Given the description of an element on the screen output the (x, y) to click on. 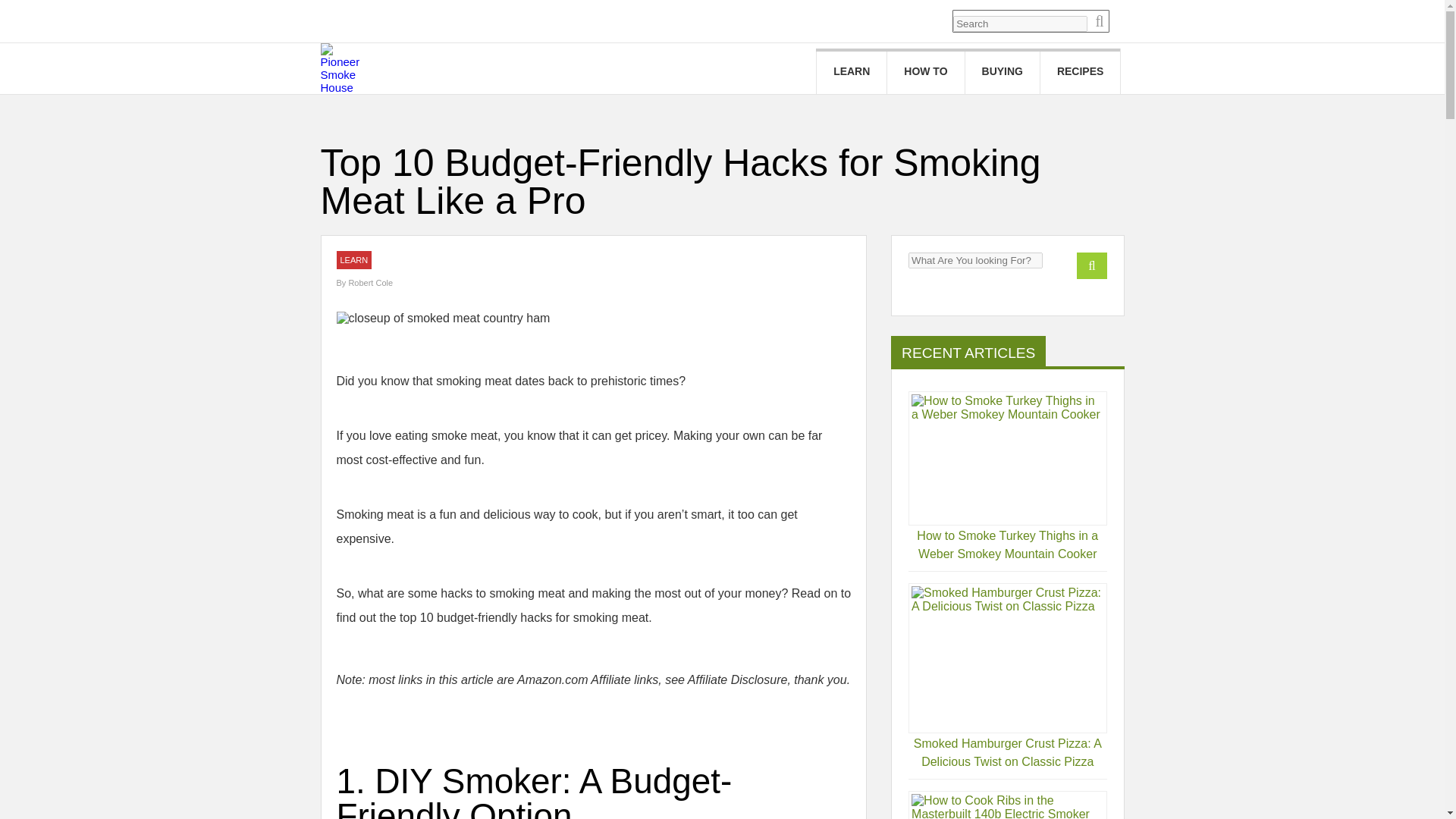
BUYING (1002, 71)
RECIPES (1080, 71)
LEARN (851, 71)
How to Smoke Turkey Thighs in a Weber Smokey Mountain Cooker (1007, 544)
Robert Cole (370, 282)
smoked-meat-ham-smoked-ham (443, 318)
HOW TO (924, 71)
LEARN (353, 259)
